Given the description of an element on the screen output the (x, y) to click on. 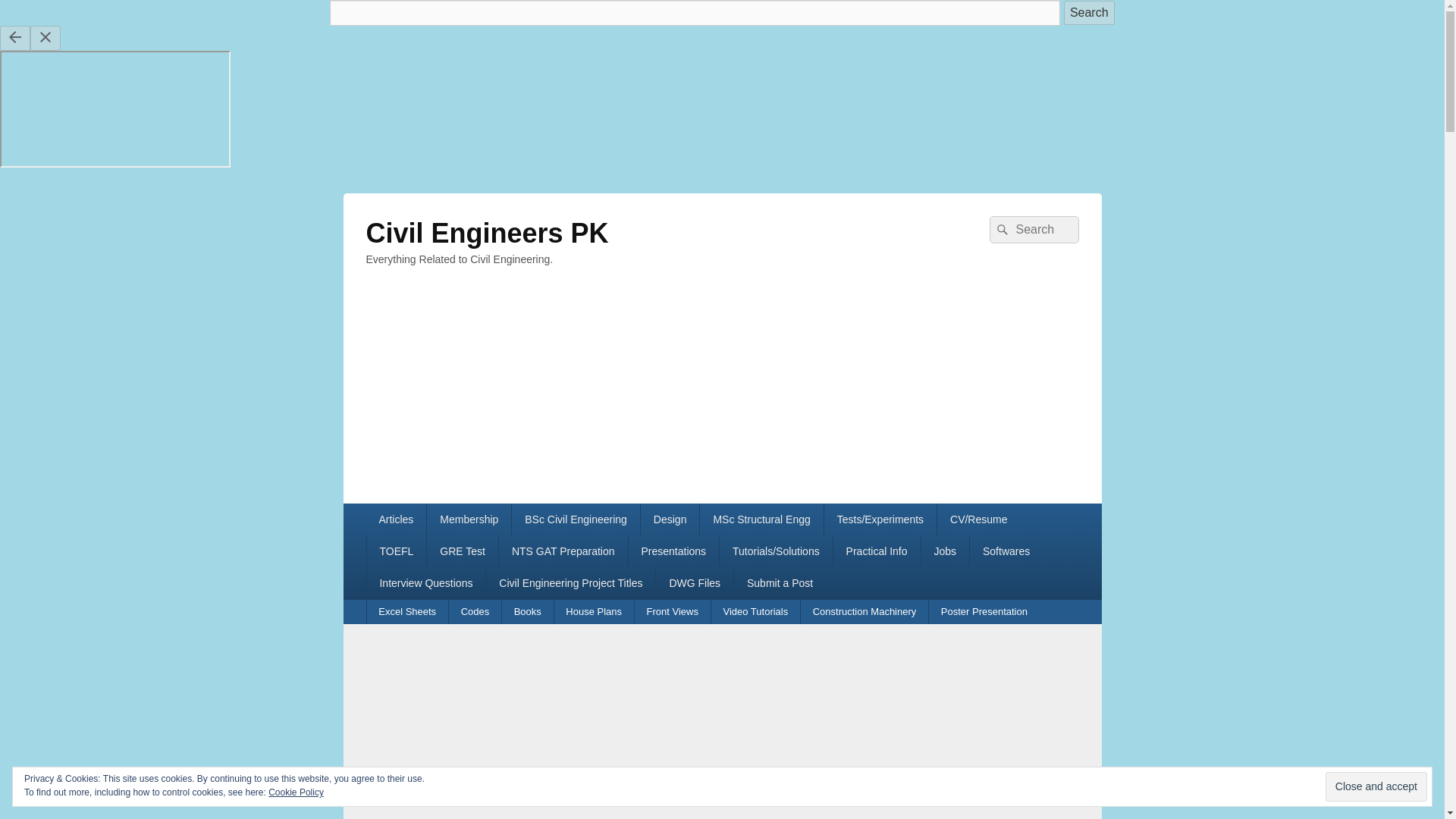
Search (1089, 12)
Search (1089, 12)
MSc Structural Engg (761, 519)
BSc Civil Engineering (576, 519)
Close and accept (1375, 786)
Articles (395, 519)
Design (670, 519)
Civil Engineers PK (486, 232)
Membership (468, 519)
Search for: (1033, 229)
